Given the description of an element on the screen output the (x, y) to click on. 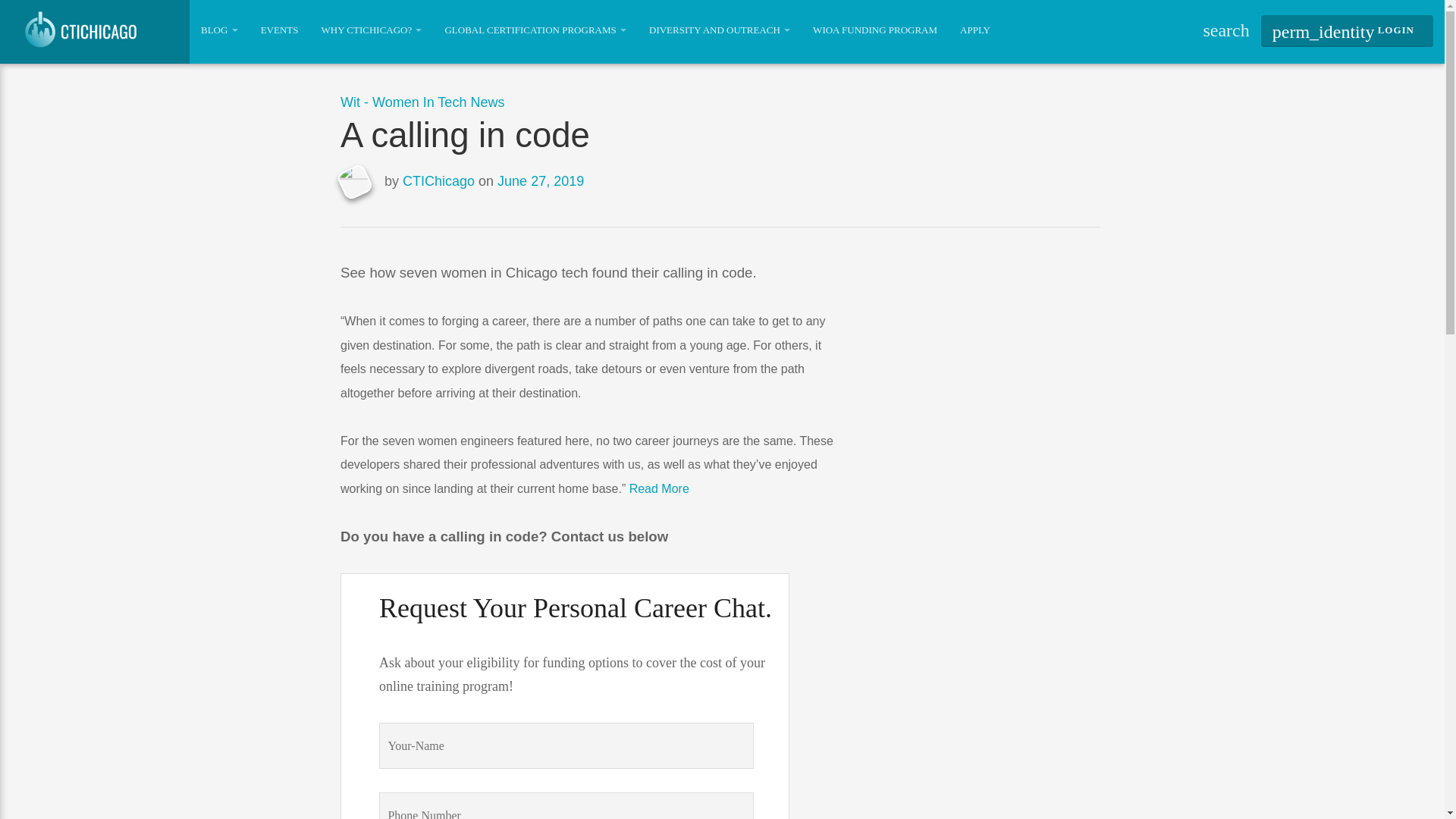
WHY CTICHICAGO? (370, 29)
Blog (218, 29)
GLOBAL CERTIFICATION PROGRAMS (534, 29)
Why CTIChicago? (370, 29)
Events (279, 29)
EVENTS (279, 29)
search (1225, 30)
BLOG (218, 29)
DIVERSITY AND OUTREACH (719, 29)
WIOA FUNDING PROGRAM (875, 29)
